Given the description of an element on the screen output the (x, y) to click on. 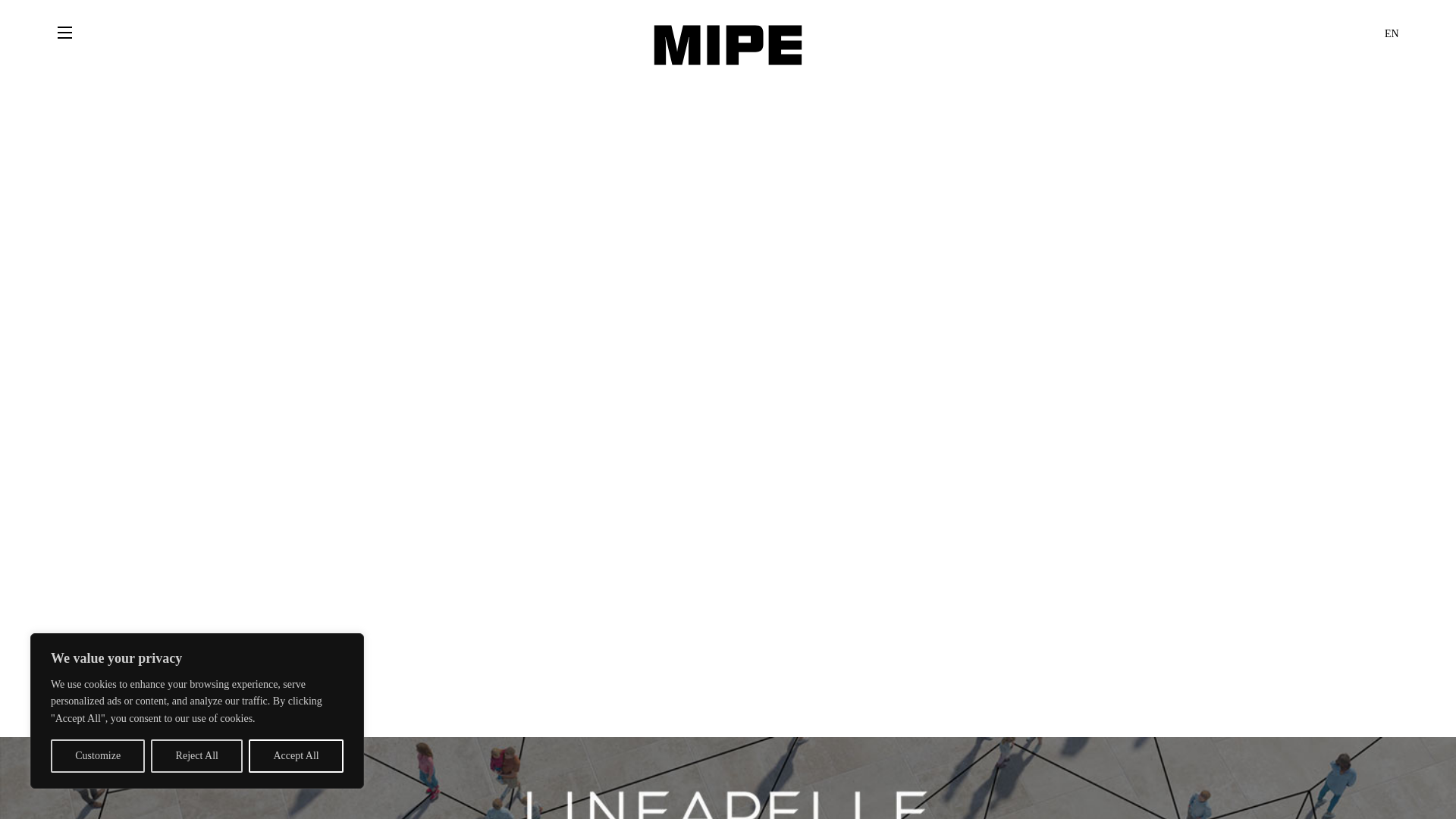
Accept All (295, 756)
Customize (97, 756)
Reject All (197, 756)
